Given the description of an element on the screen output the (x, y) to click on. 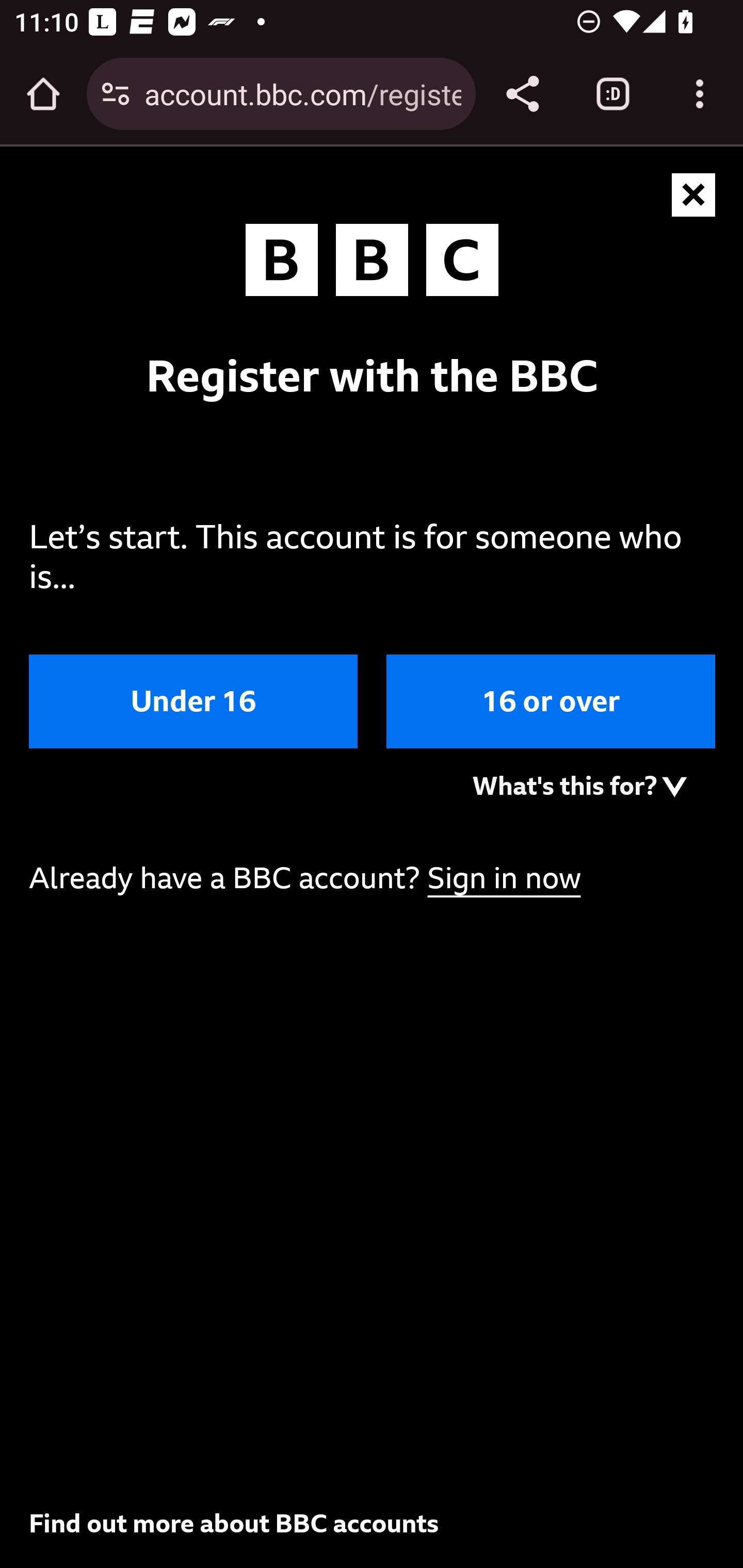
Open the home page (43, 93)
Connection is secure (115, 93)
Share (522, 93)
Switch or close tabs (612, 93)
Customize and control Google Chrome (699, 93)
Close and return to where you originally came from (694, 195)
Under 16 (193, 701)
16 or over (551, 701)
What's this for? (579, 785)
Find out more about BBC accounts (234, 1522)
